Given the description of an element on the screen output the (x, y) to click on. 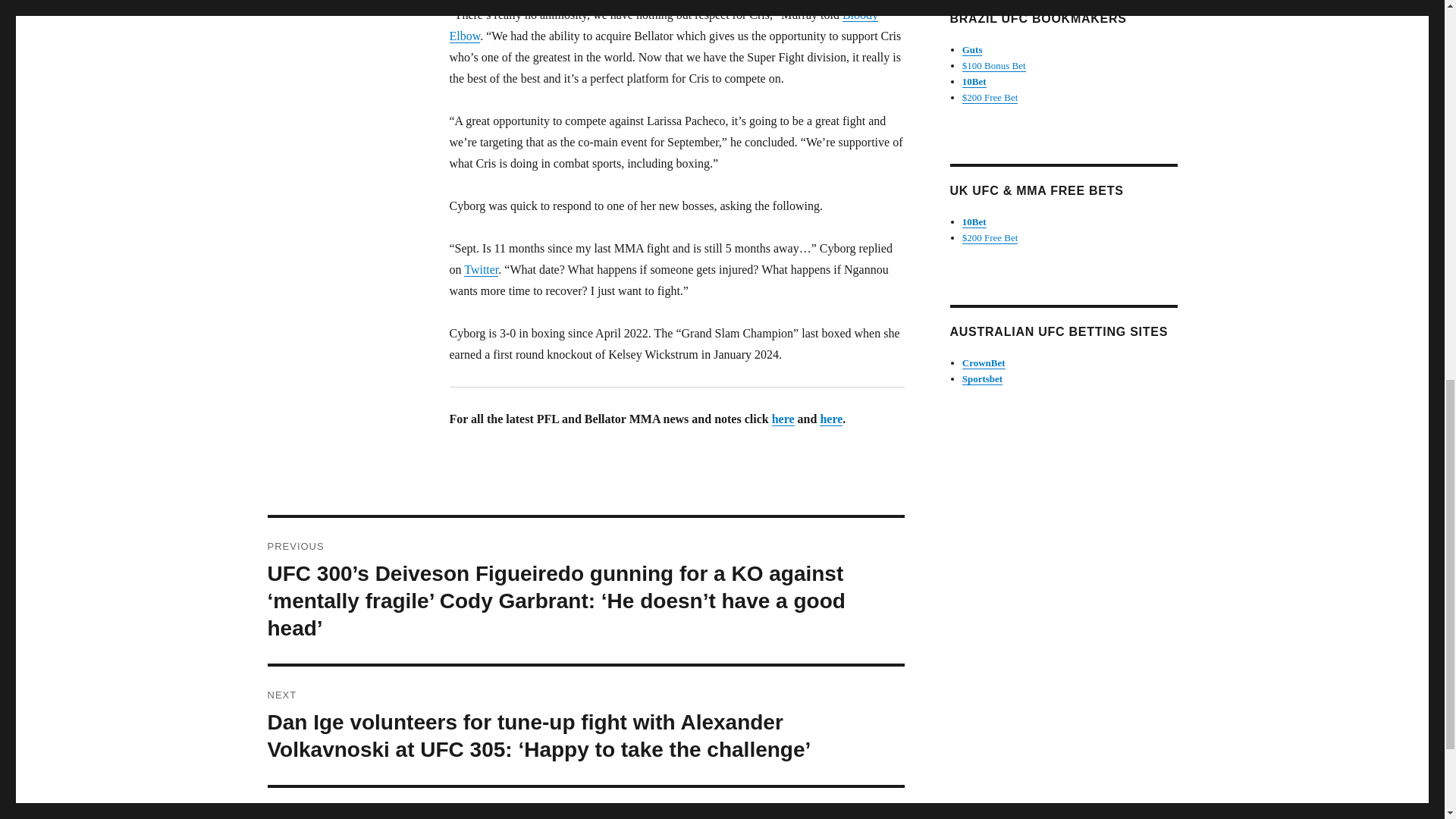
Twitter (480, 269)
Bloody Elbow (662, 25)
here (782, 418)
here (831, 418)
10Bet (974, 81)
10Bet (974, 221)
CrownBet (984, 362)
Sportsbet (982, 378)
Guts (972, 49)
